Given the description of an element on the screen output the (x, y) to click on. 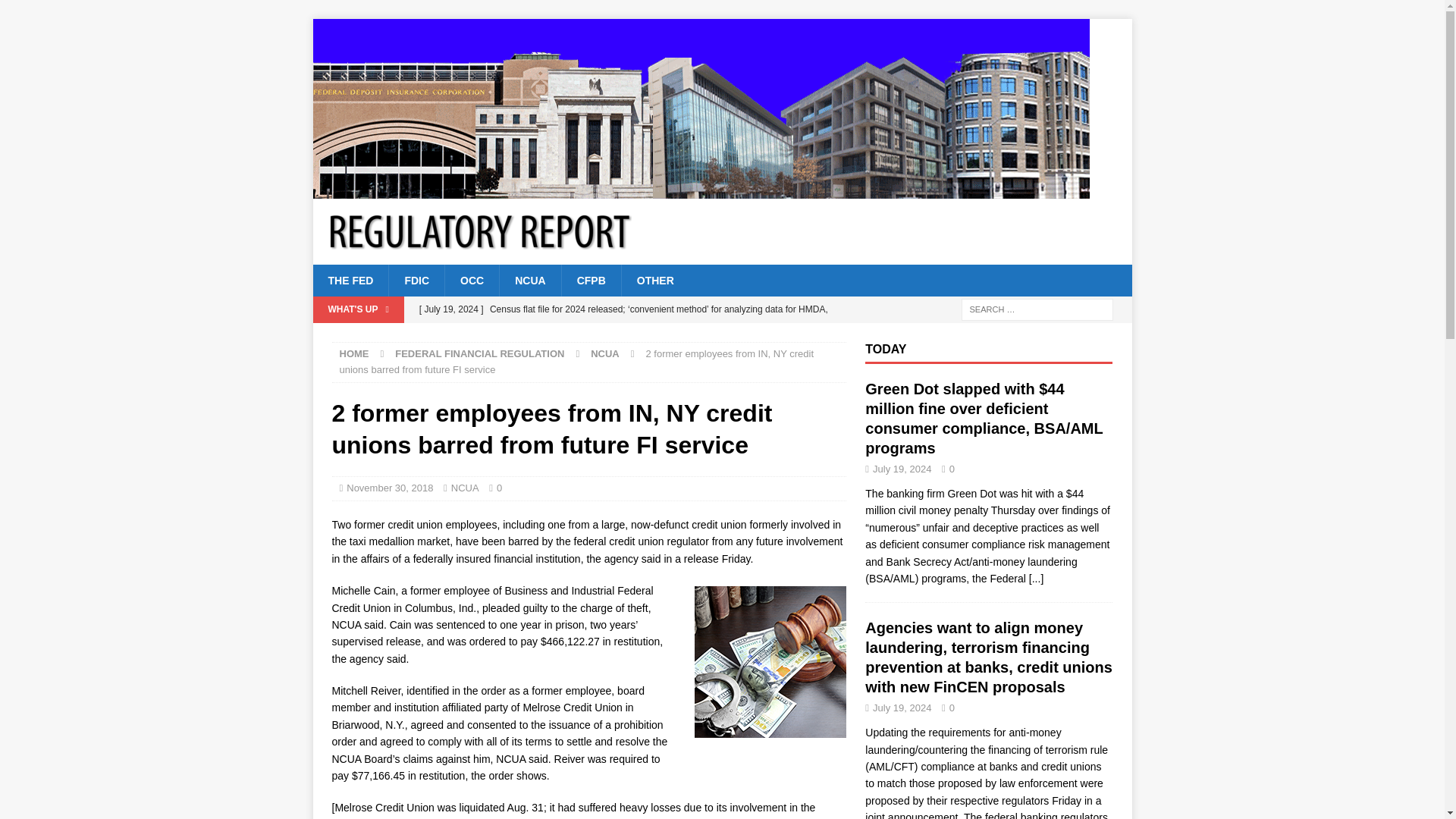
HOME (354, 353)
NCUA (529, 280)
NCUA (605, 353)
OTHER (654, 280)
CFPB (590, 280)
Search (56, 11)
THE FED (350, 280)
Regulatory Report (701, 190)
OCC (471, 280)
FEDERAL FINANCIAL REGULATION (479, 353)
NCUA (465, 487)
FDIC (416, 280)
November 30, 2018 (389, 487)
